Given the description of an element on the screen output the (x, y) to click on. 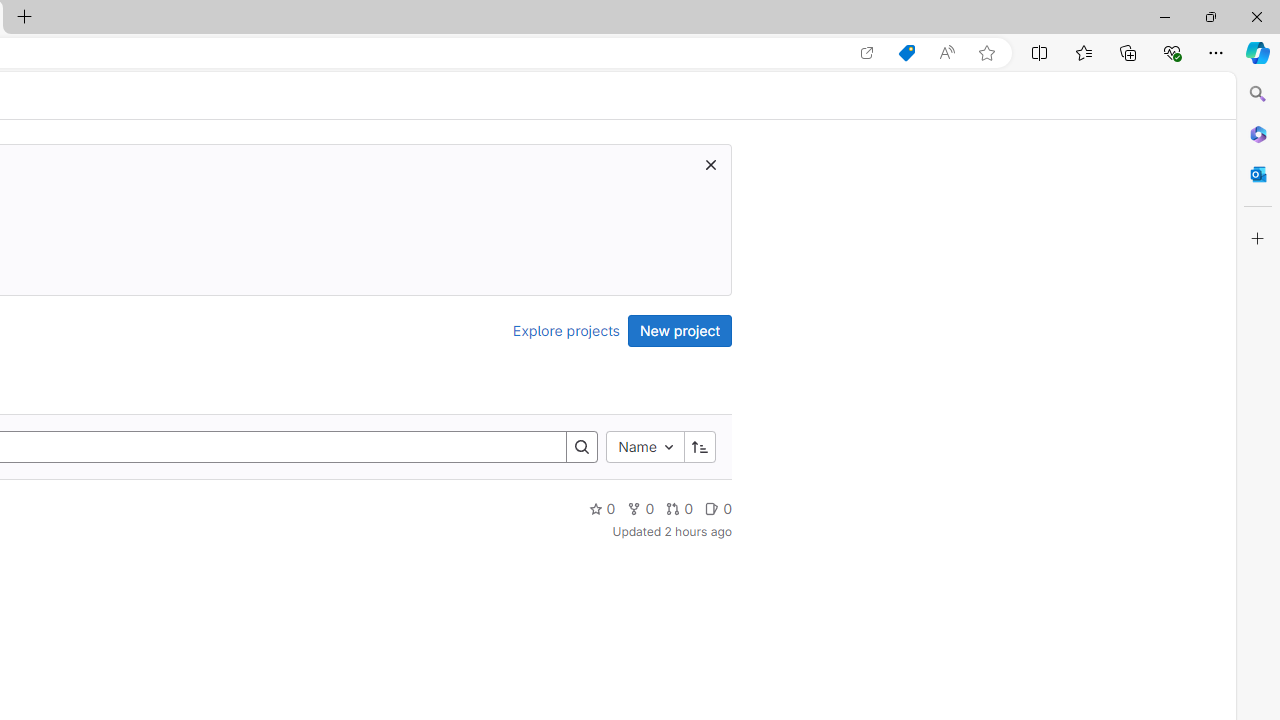
Sort direction: Ascending (699, 445)
Explore projects (565, 330)
New project (680, 330)
Shopping in Microsoft Edge (906, 53)
